Given the description of an element on the screen output the (x, y) to click on. 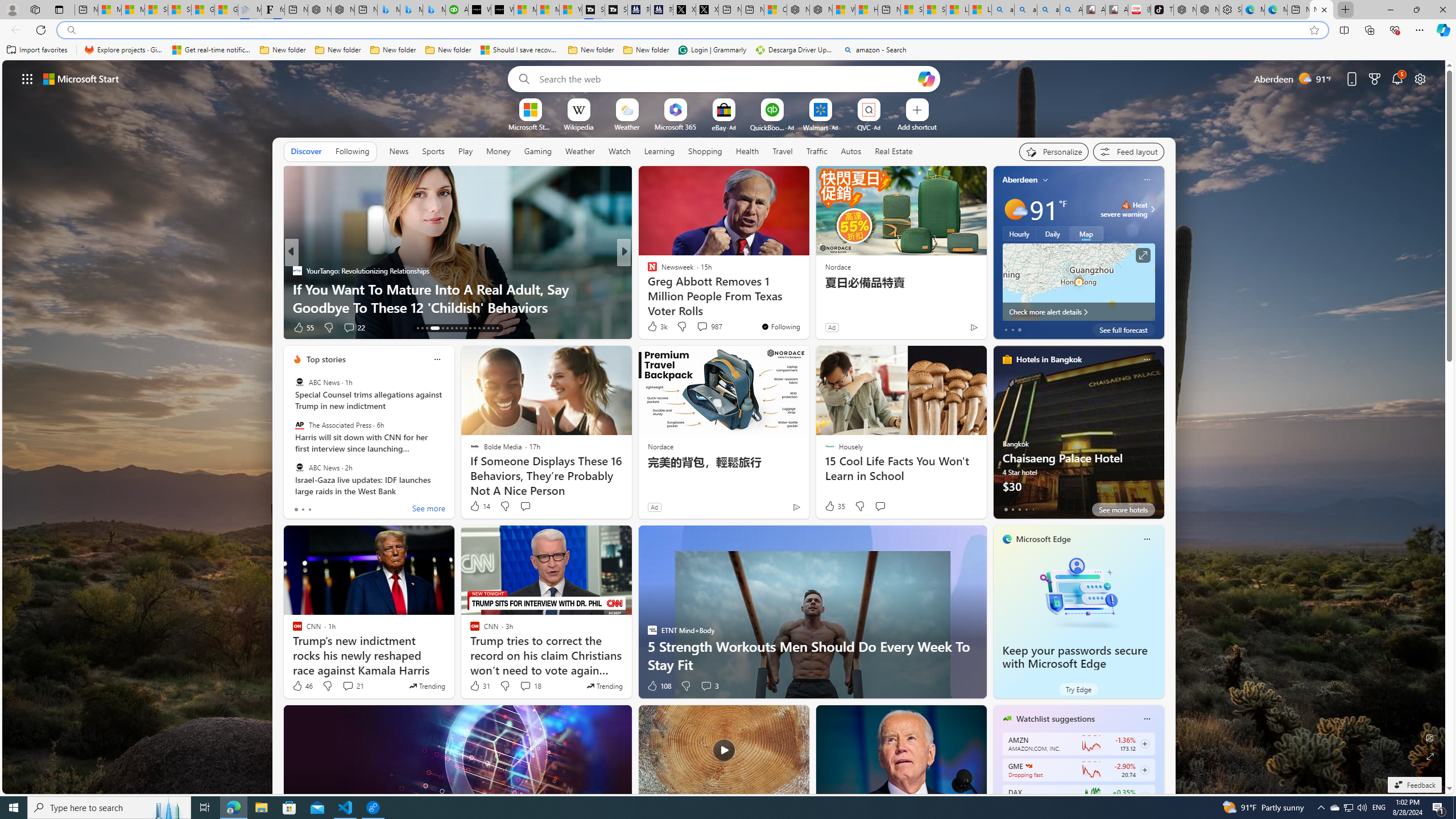
AutomationID: tab-23 (470, 328)
Check more alert details (1077, 311)
View comments 21 Comment (352, 685)
amazon - Search Images (1048, 9)
View comments 52 Comment (698, 327)
379 Like (654, 327)
My location (1045, 179)
Gaming (537, 151)
Click to see more information (1142, 255)
35 Like (834, 505)
